Given the description of an element on the screen output the (x, y) to click on. 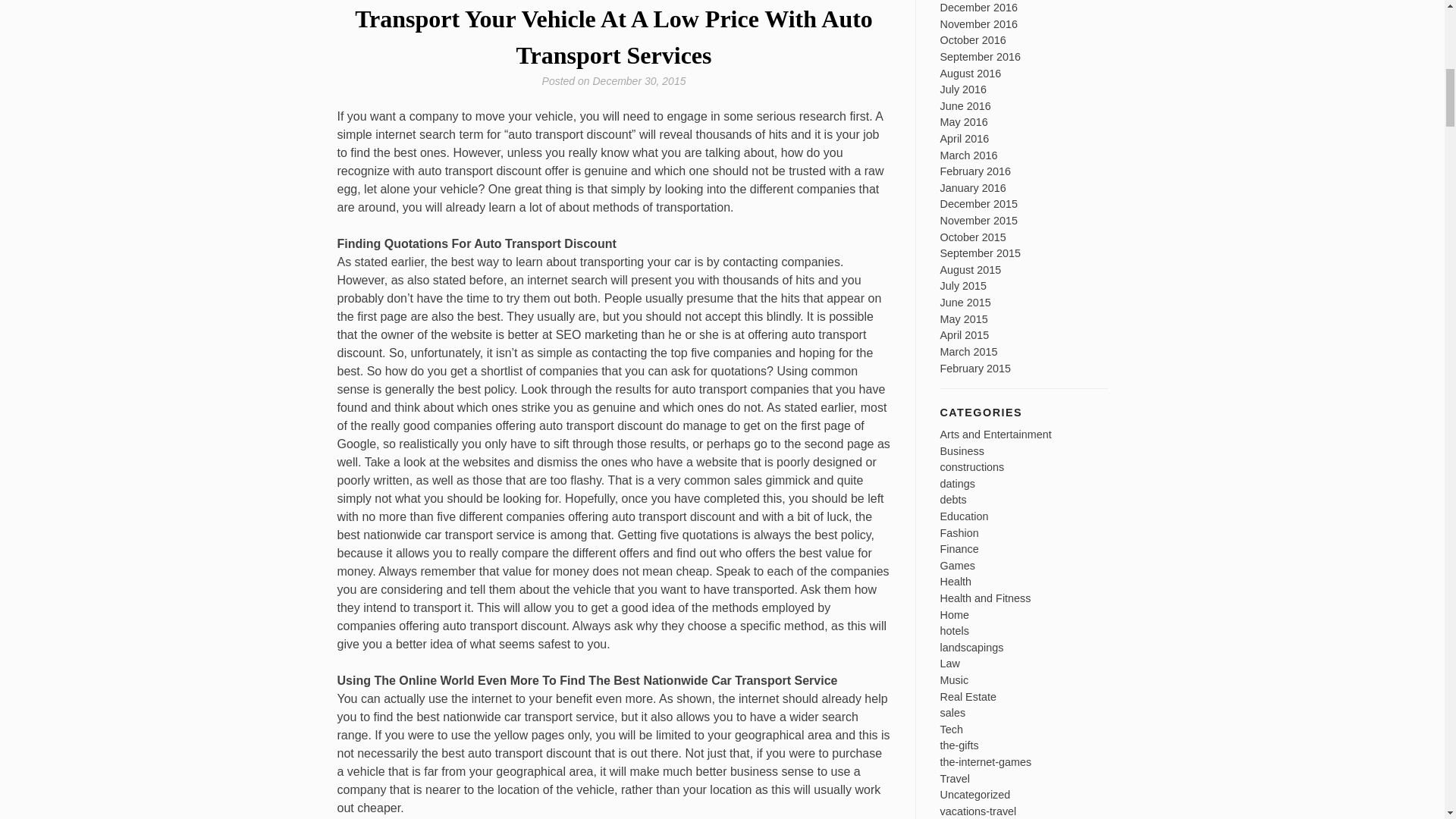
December 30, 2015 (638, 80)
